Given the description of an element on the screen output the (x, y) to click on. 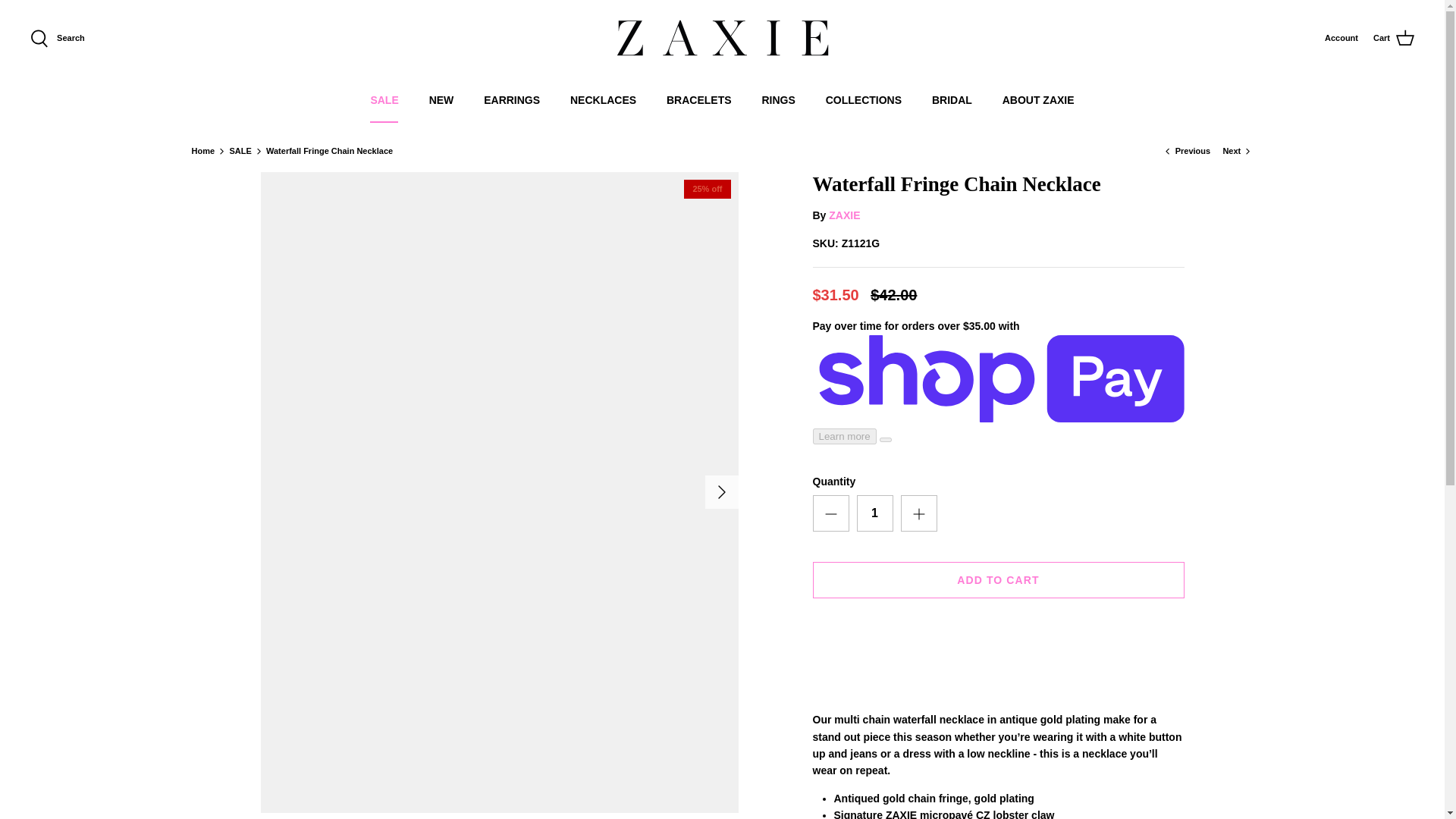
ZAXIE by Stefanie Taylor (722, 39)
Cart (1393, 38)
RIGHT (721, 491)
EARRINGS (511, 100)
Minus (831, 514)
1 (875, 513)
Raffia Fringe Hoop Earrings (1186, 150)
SALE (384, 100)
Search (57, 38)
Account (1341, 38)
NEW (440, 100)
Plus (919, 514)
